Given the description of an element on the screen output the (x, y) to click on. 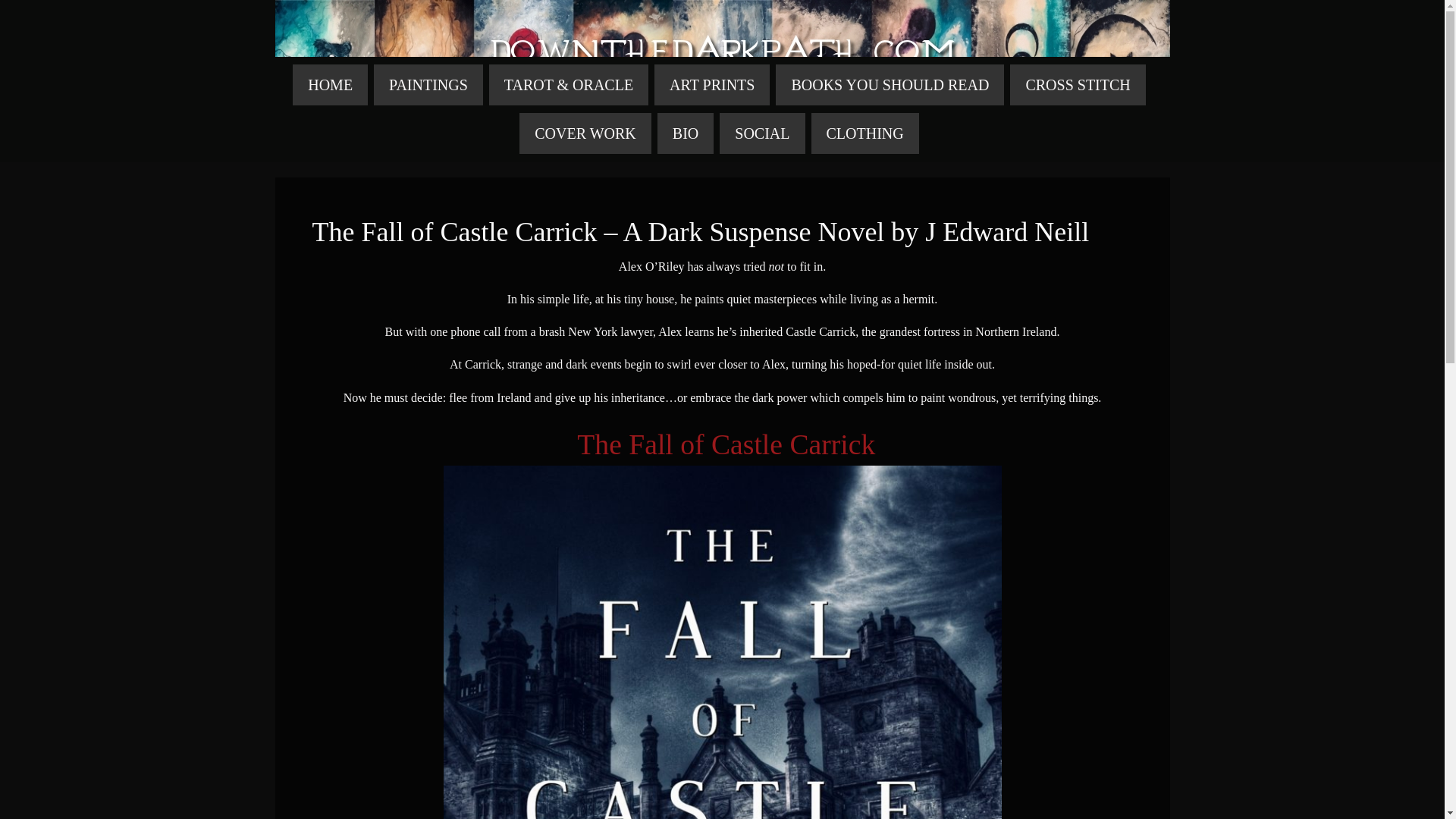
ART PRINTS (711, 84)
COVER WORK (584, 133)
CLOTHING (864, 133)
PAINTINGS (428, 84)
BOOKS YOU SHOULD READ (890, 84)
CROSS STITCH (1077, 84)
SOCIAL (762, 133)
HOME (330, 84)
The Fall of Castle Carrick  (729, 444)
BIO (685, 133)
